Given the description of an element on the screen output the (x, y) to click on. 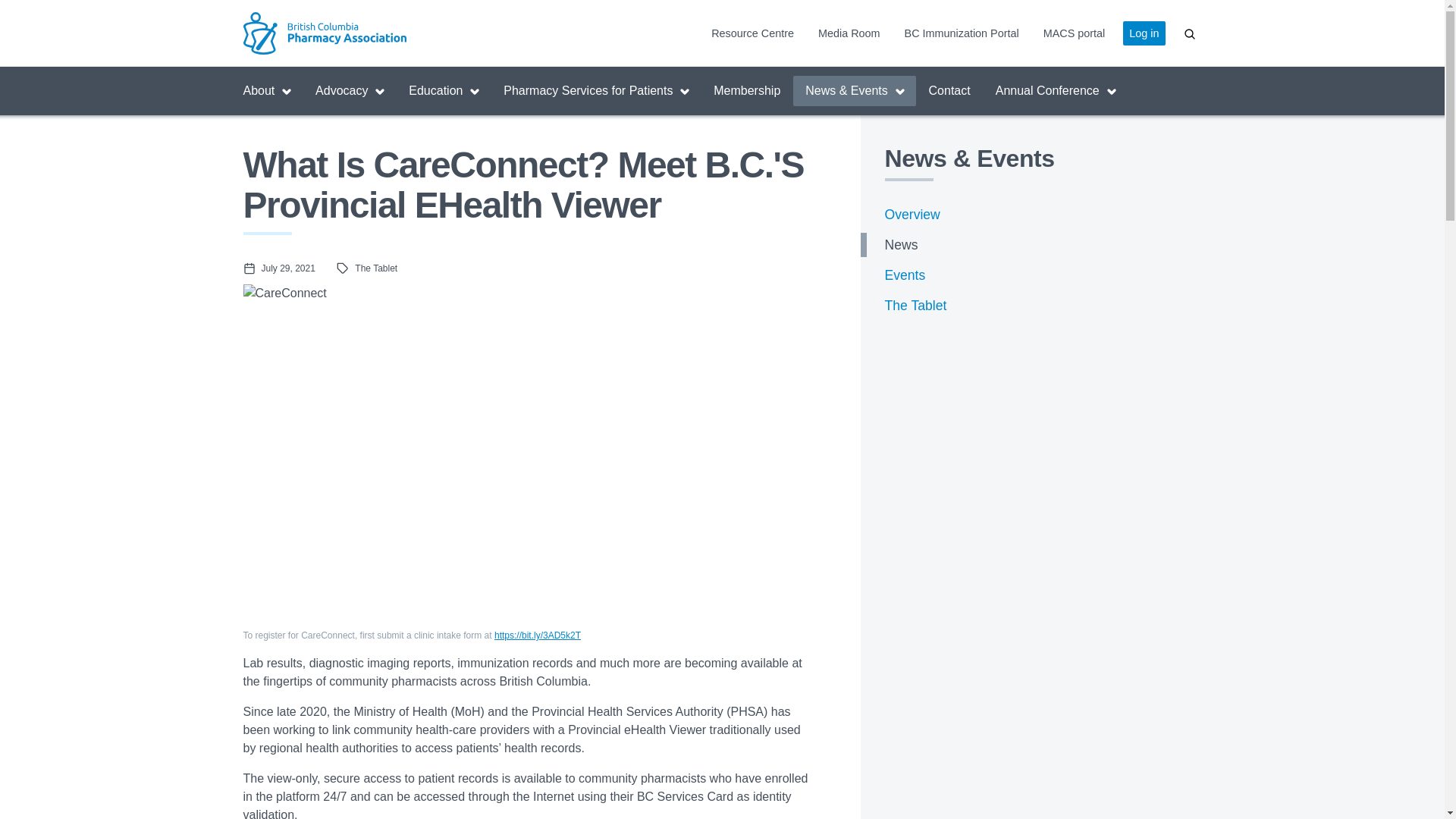
News & Events Element type: text (854, 90)
Contact Element type: text (949, 90)
Annual Conference Element type: text (1055, 90)
Overview Element type: text (1030, 214)
Pharmacy Services for Patients Element type: text (595, 90)
https://bit.ly/3AD5k2T Element type: text (537, 635)
About Element type: text (266, 90)
Home Element type: hover (362, 33)
News Element type: text (1030, 244)
Log in Element type: text (1143, 33)
Skip to main navigation Element type: text (0, 0)
MACS portal Element type: text (1074, 33)
Events Element type: text (1030, 275)
BC Immunization Portal Element type: text (961, 33)
Advocacy Element type: text (349, 90)
Media Room Element type: text (849, 33)
Resource Centre Element type: text (752, 33)
Open Search Element type: hover (1188, 33)
Education Element type: text (443, 90)
The Tablet Element type: text (1030, 305)
Membership Element type: text (746, 90)
